Given the description of an element on the screen output the (x, y) to click on. 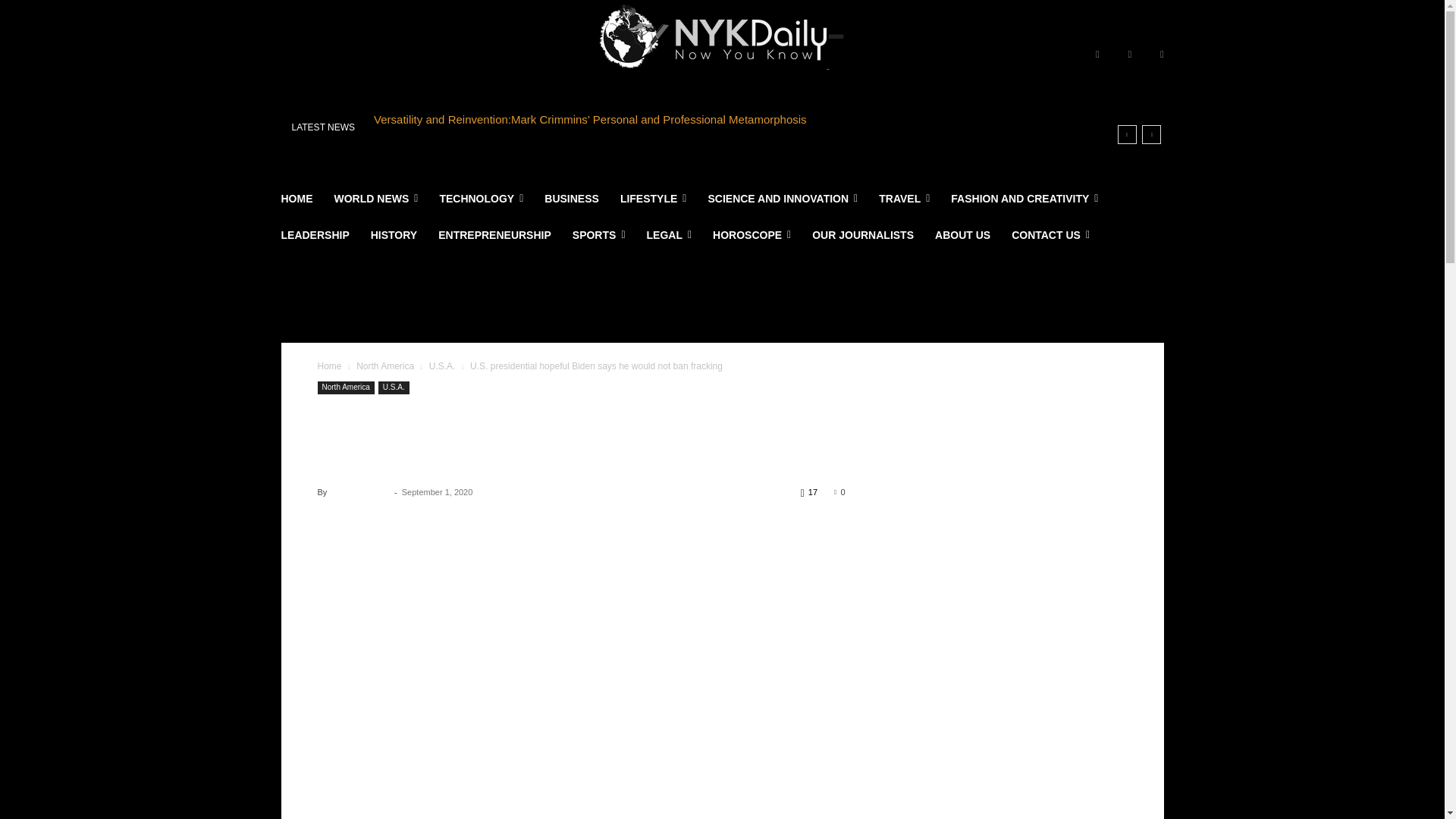
Facebook (1096, 54)
Instagram (1130, 54)
Twitter (1162, 54)
